Given the description of an element on the screen output the (x, y) to click on. 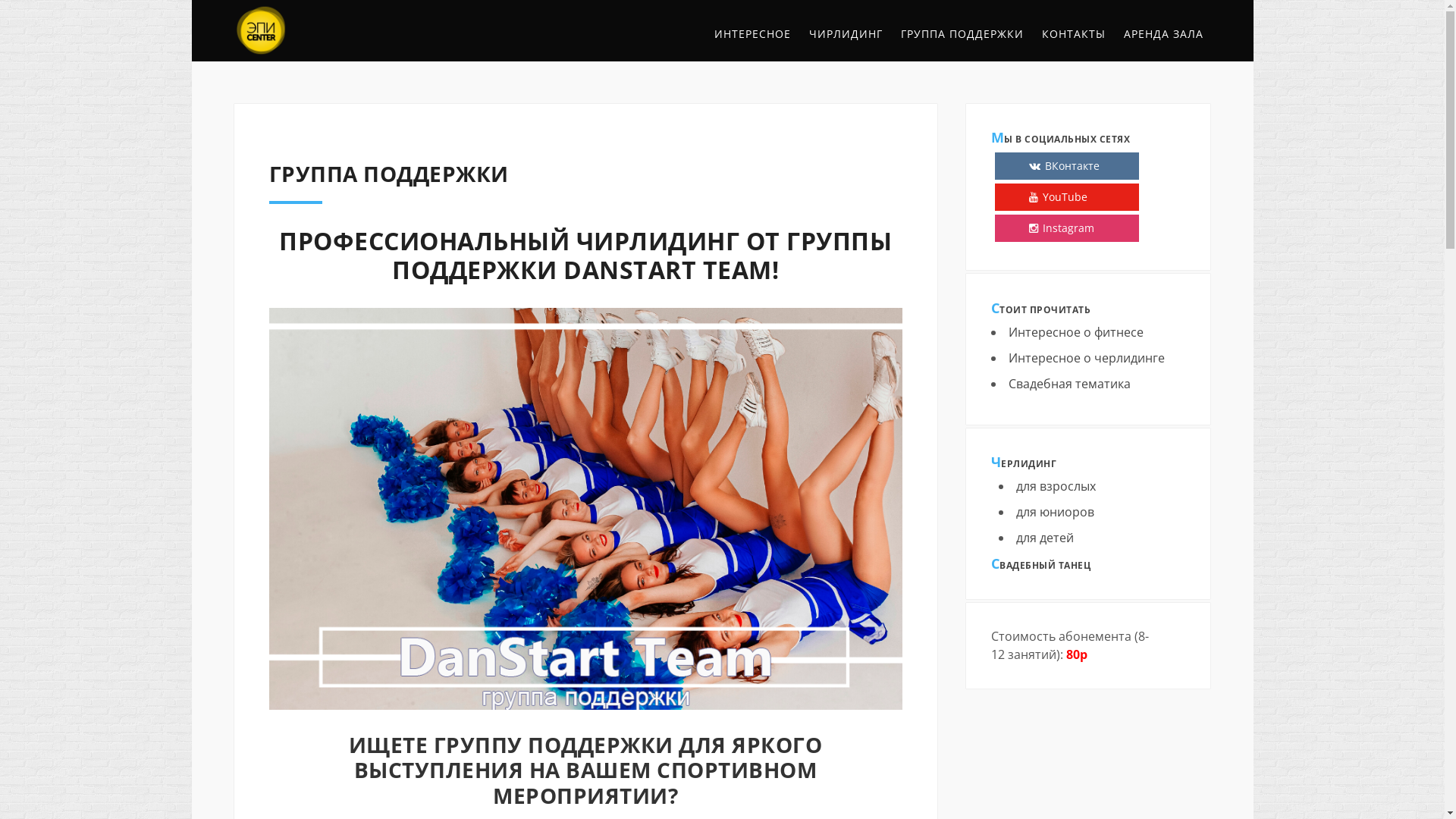
Instagram Element type: text (1066, 227)
YouTube Element type: text (1066, 196)
